Given the description of an element on the screen output the (x, y) to click on. 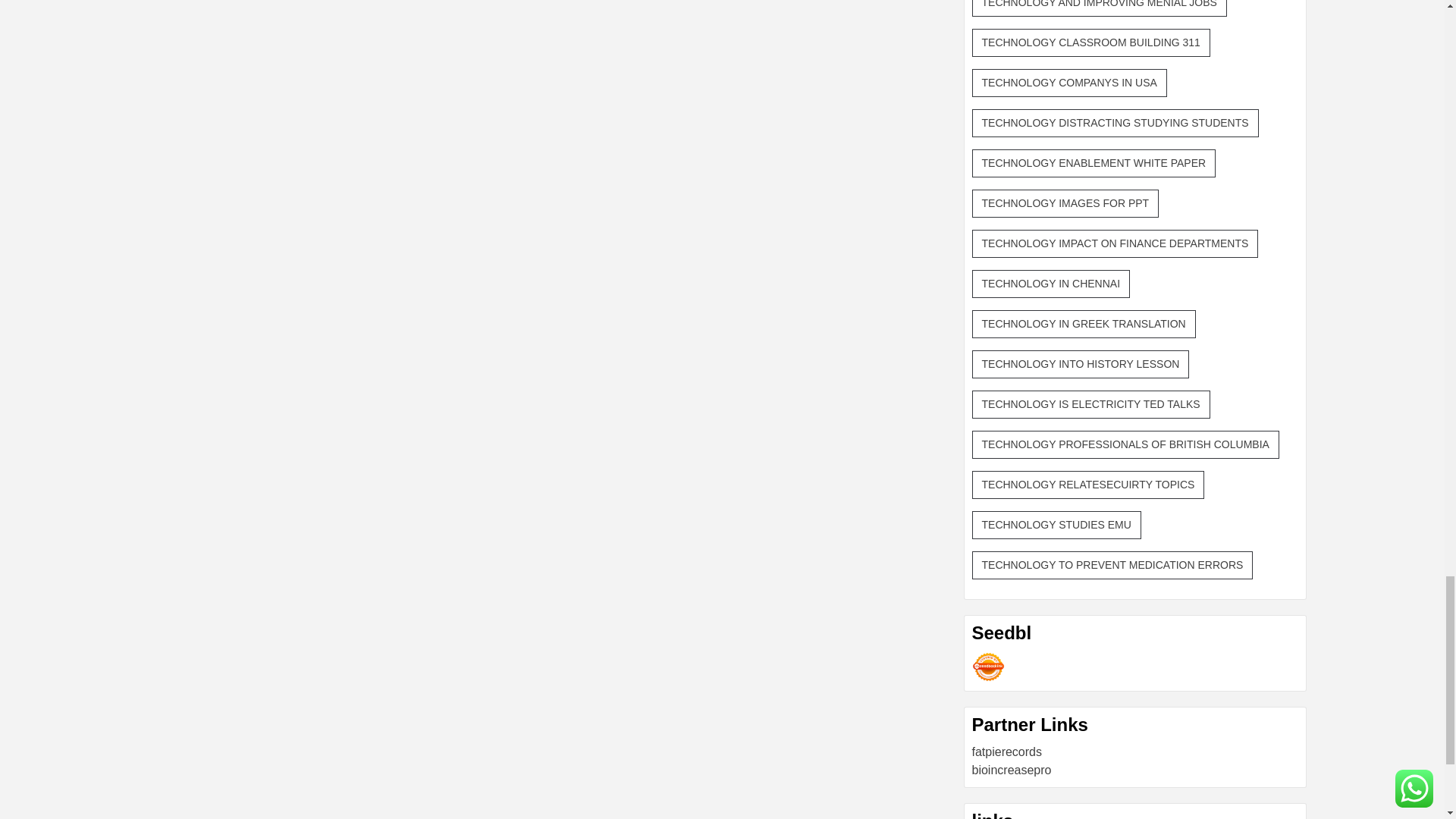
Seedbacklink (988, 666)
